Given the description of an element on the screen output the (x, y) to click on. 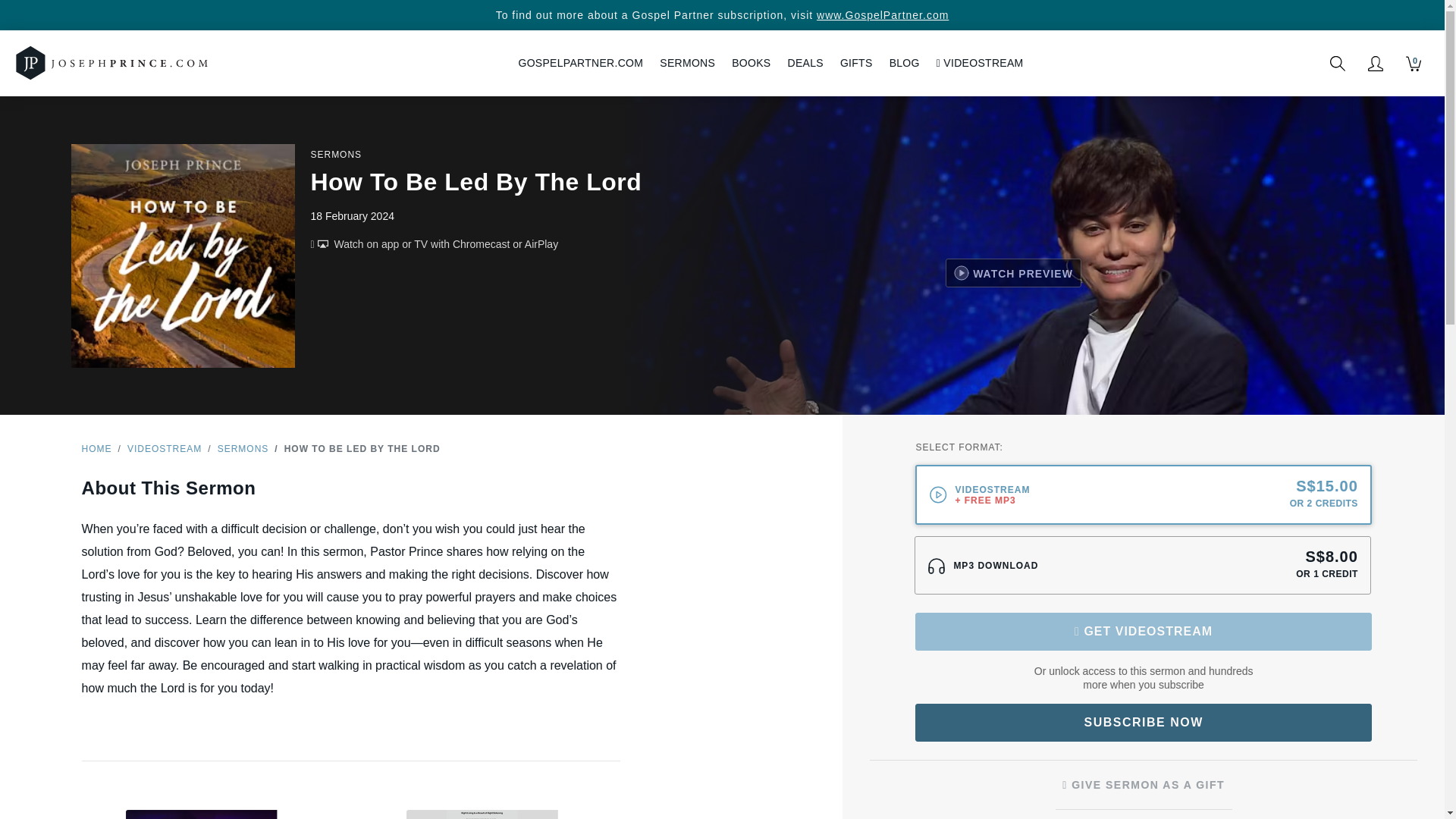
BLOG (904, 62)
SERMONS (686, 62)
20240218VJ (959, 483)
20240218M3 (957, 553)
DEALS (804, 62)
GOSPELPARTNER.COM (579, 62)
 VIDEOSTREAM (980, 62)
0 (1413, 63)
BOOKS (750, 62)
GIFTS (855, 62)
